Given the description of an element on the screen output the (x, y) to click on. 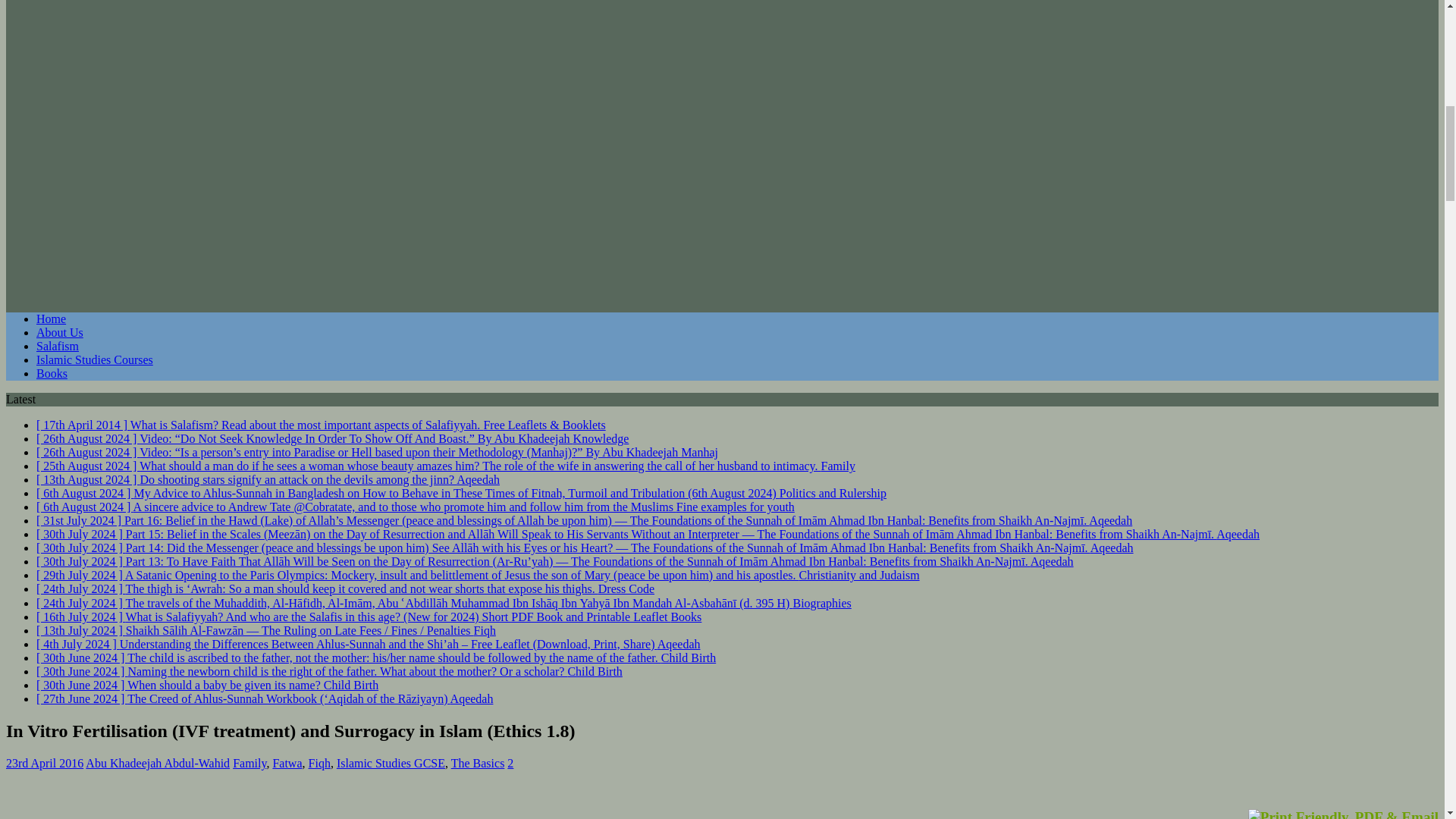
Fiqh (319, 762)
Fatwa (286, 762)
Islamic Studies Courses (94, 359)
Abu Khadeejah Abdul-Wahid (157, 762)
Salafism (57, 345)
23rd April 2016 (43, 762)
Books (51, 373)
